Given the description of an element on the screen output the (x, y) to click on. 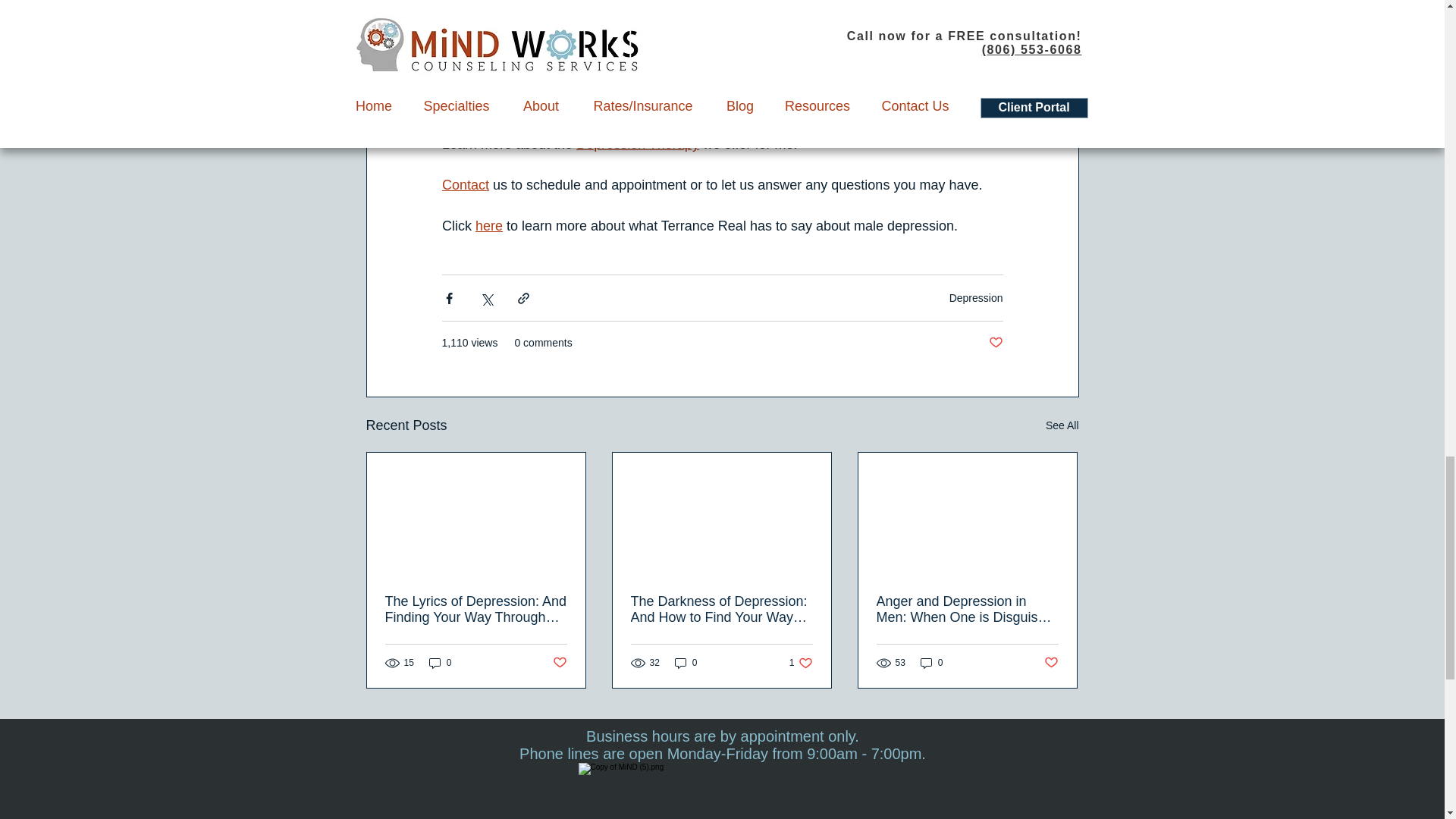
Depression (976, 297)
here (488, 225)
Contact (464, 184)
Post not marked as liked (995, 342)
See All (1061, 425)
Depression Therapy (637, 143)
